Given the description of an element on the screen output the (x, y) to click on. 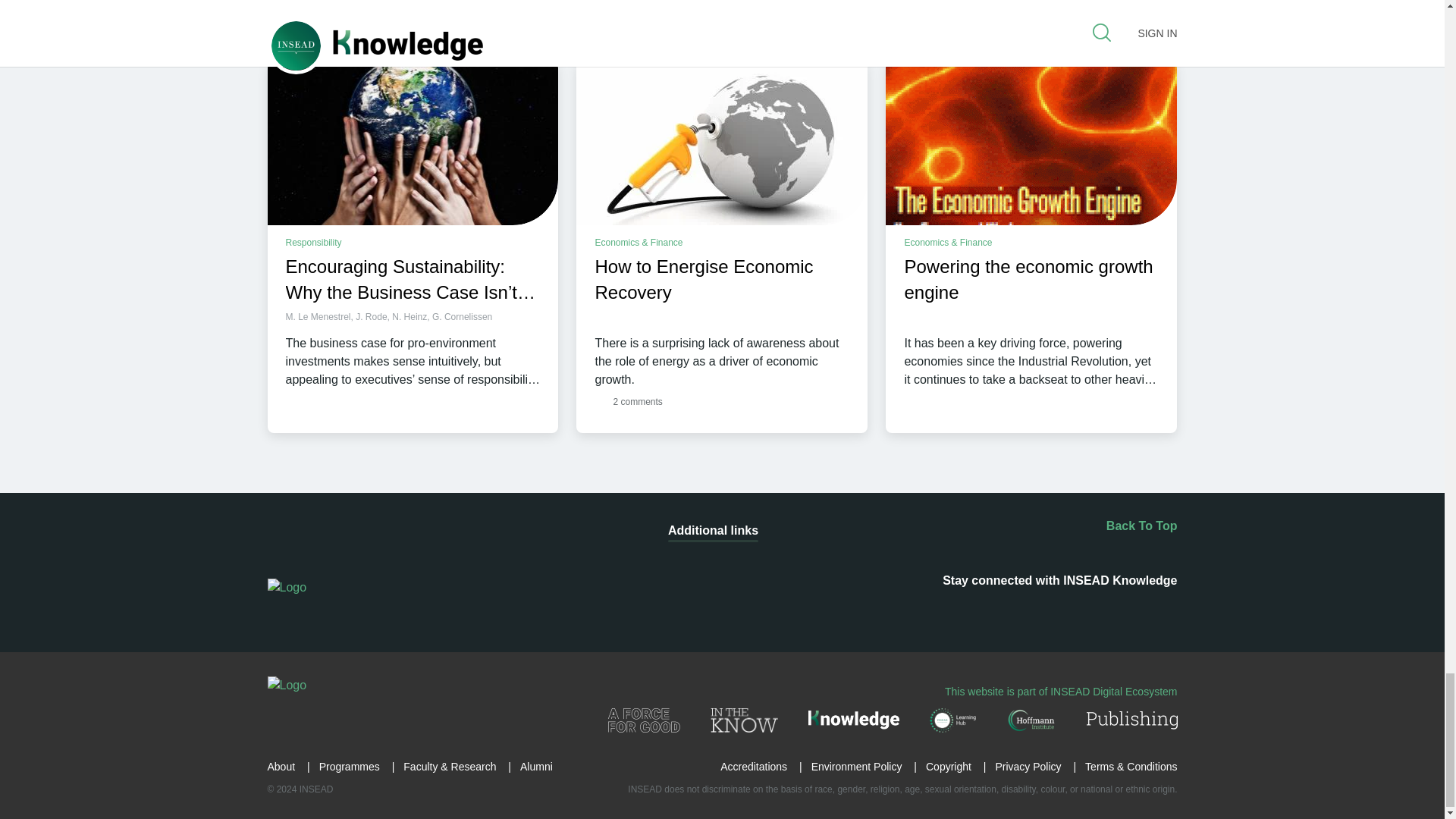
Twitter (1025, 610)
Podcasts (1115, 610)
LinkedIn (936, 610)
Facebook (980, 610)
PumpEarth (721, 143)
Economic Growth Engine - Book (1030, 143)
RSS (891, 610)
Youtube (1071, 610)
